Given the description of an element on the screen output the (x, y) to click on. 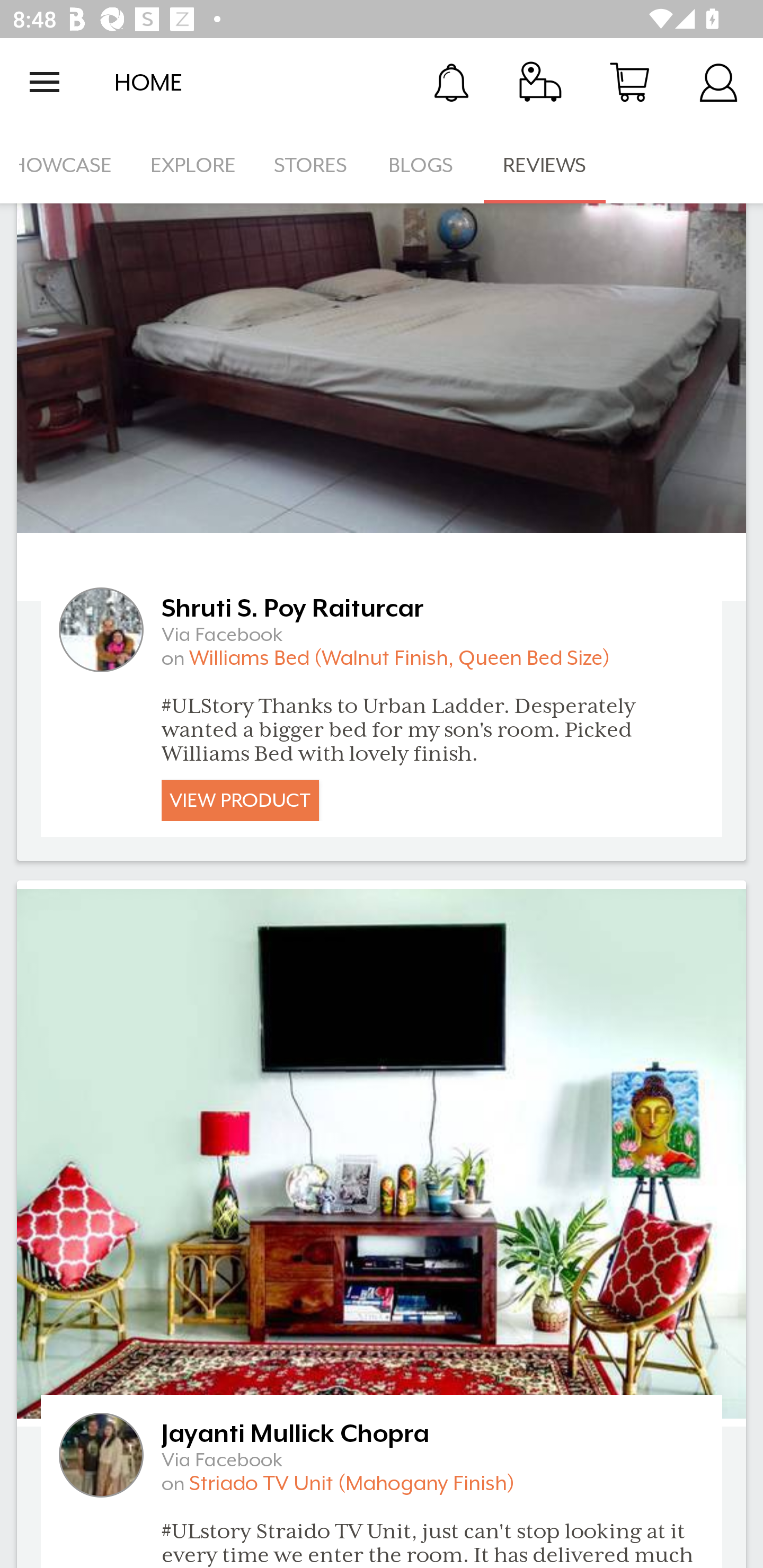
Open navigation drawer (44, 82)
Notification (450, 81)
Track Order (540, 81)
Cart (629, 81)
Account Details (718, 81)
SHOWCASE (65, 165)
EXPLORE (192, 165)
STORES (311, 165)
BLOGS (426, 165)
REVIEWS (544, 165)
VIEW PRODUCT (239, 800)
